Given the description of an element on the screen output the (x, y) to click on. 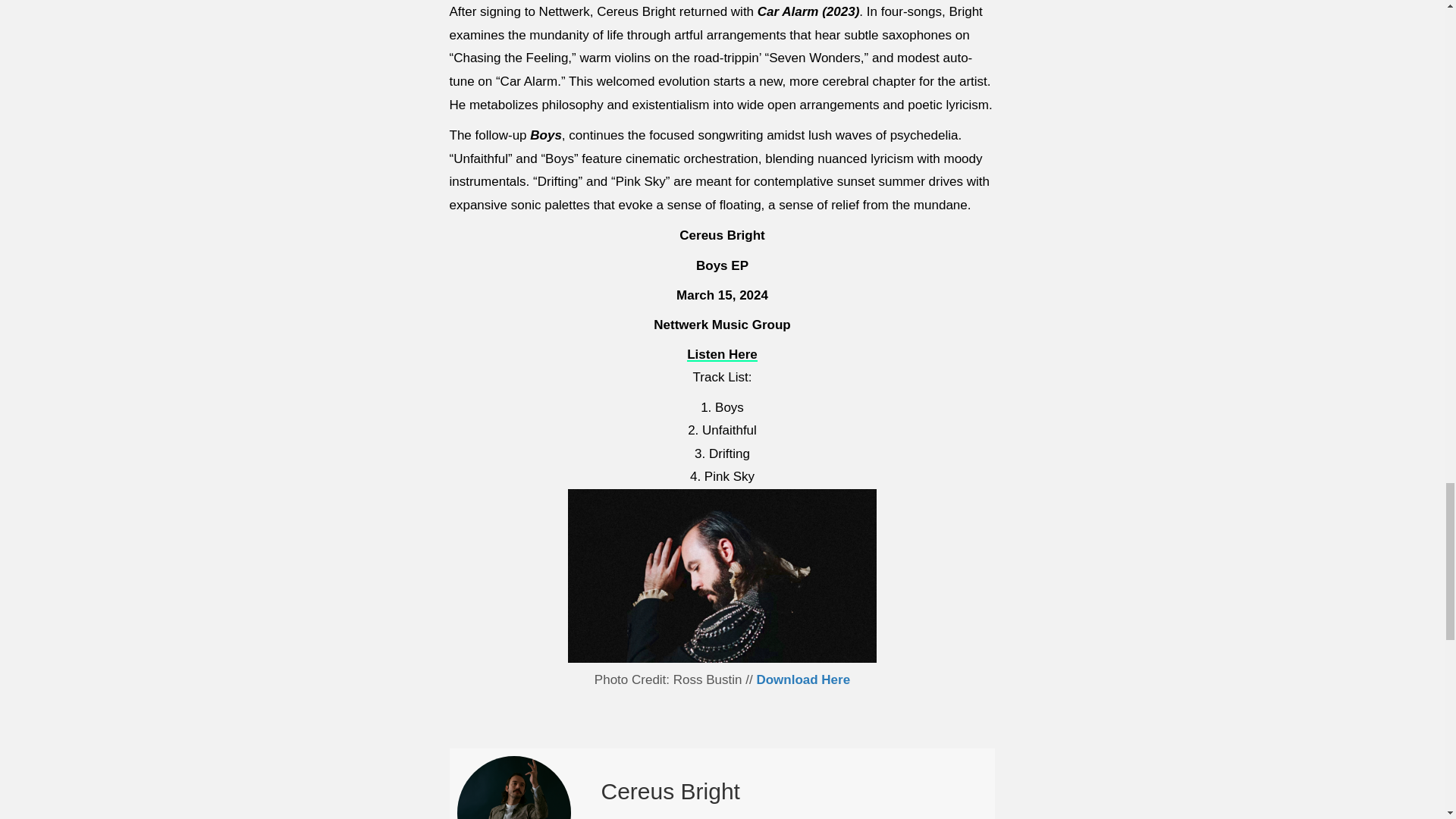
Listen Here (722, 354)
Download Here (802, 679)
Cereus Bright (669, 790)
Cereus Bright (669, 790)
